Given the description of an element on the screen output the (x, y) to click on. 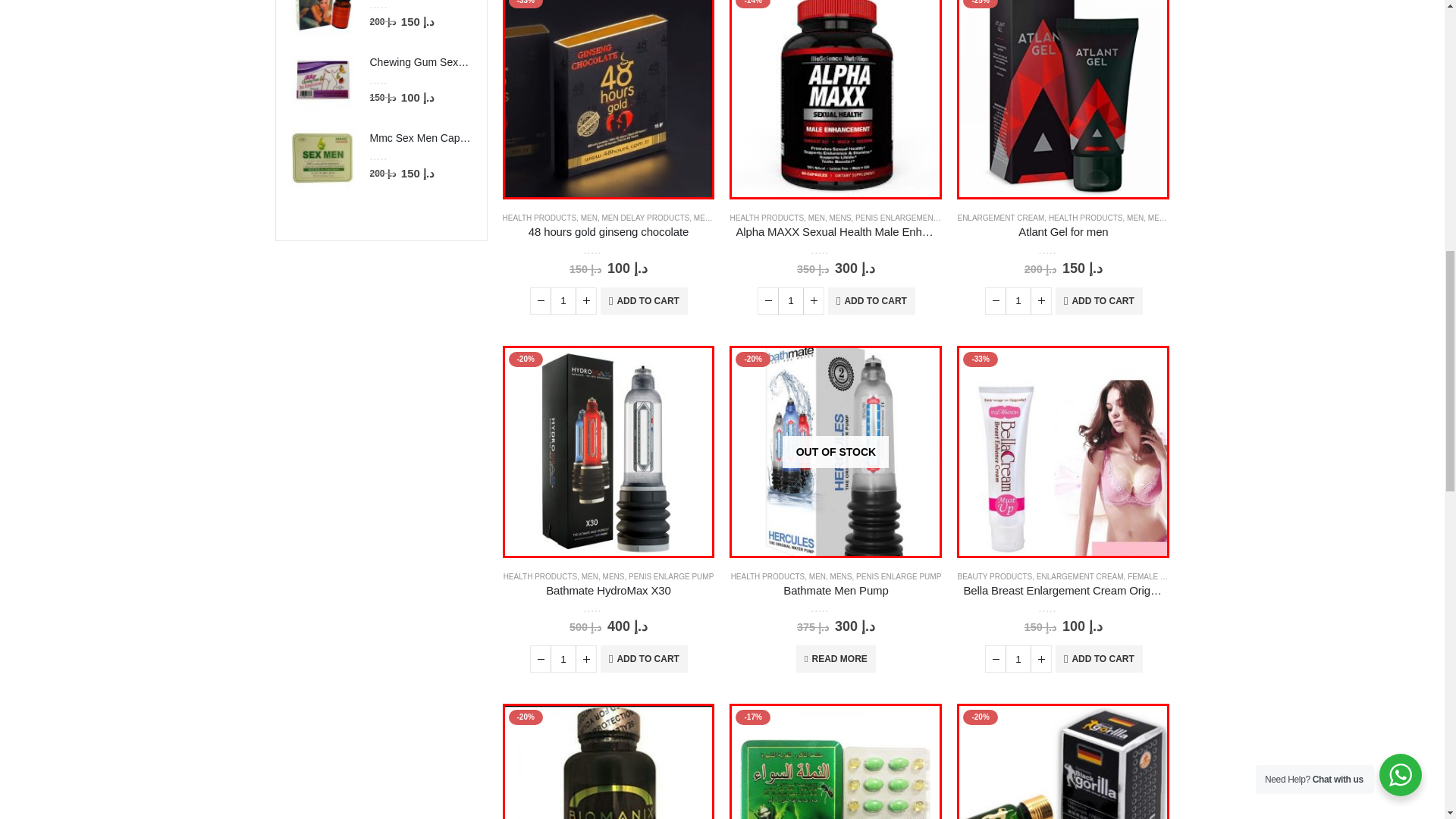
1 (563, 658)
1 (1018, 658)
1 (1018, 300)
Qty (563, 300)
1 (563, 300)
1 (790, 300)
